Given the description of an element on the screen output the (x, y) to click on. 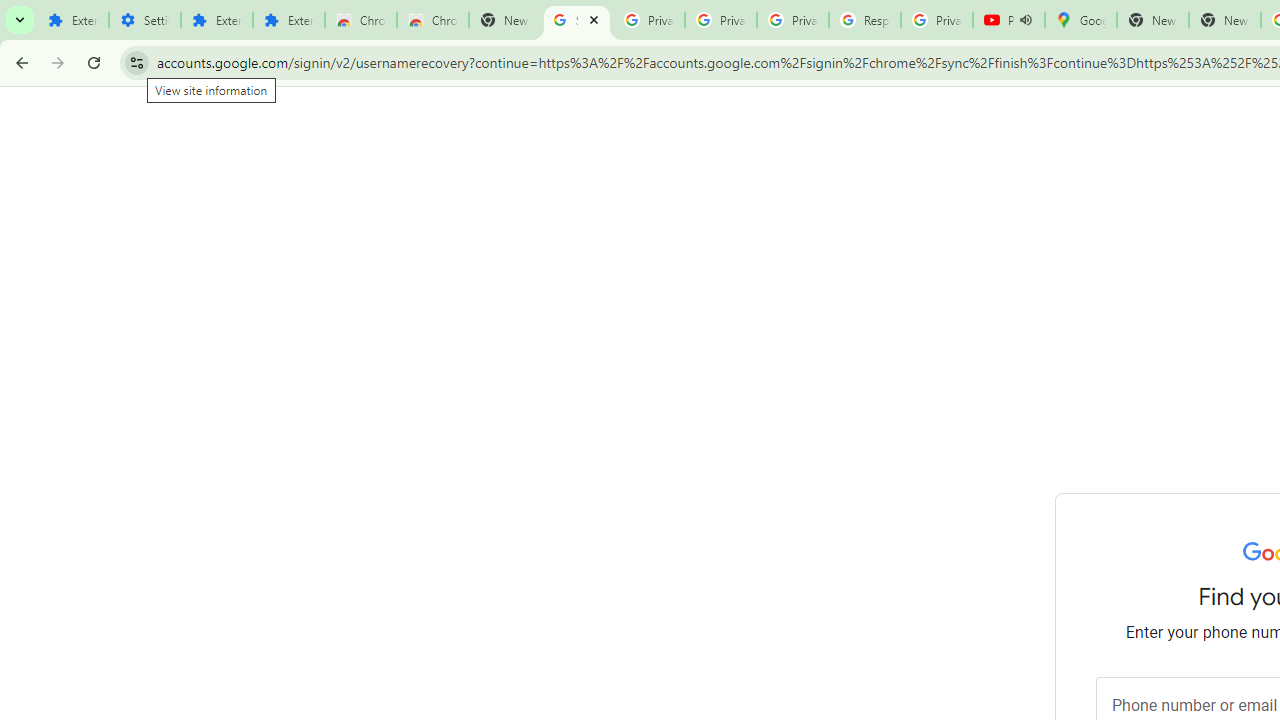
Extensions (216, 20)
New Tab (1224, 20)
Settings (144, 20)
Chrome Web Store (360, 20)
Extensions (289, 20)
Personalized AI for you | Gemini - YouTube - Audio playing (1008, 20)
Sign in - Google Accounts (577, 20)
Mute tab (1025, 20)
